Given the description of an element on the screen output the (x, y) to click on. 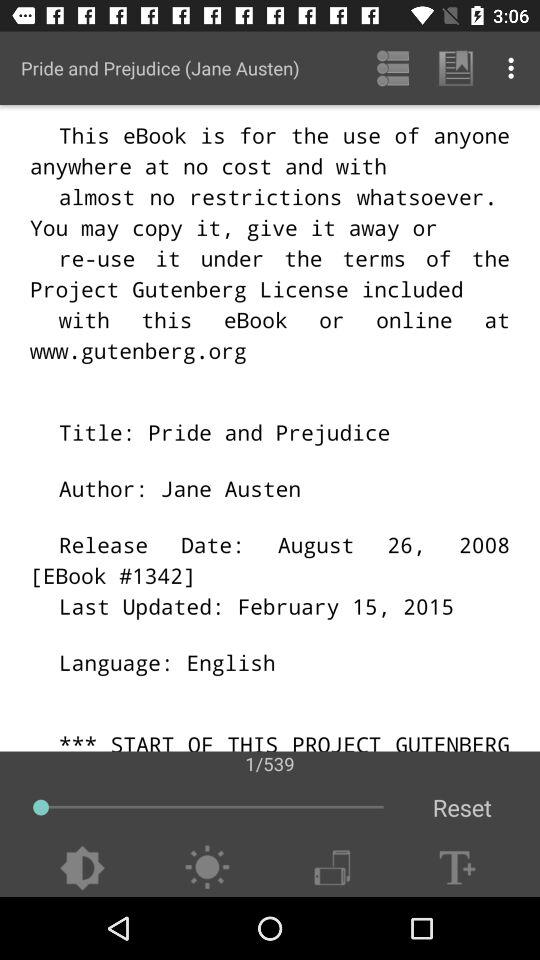
adjust brightness (206, 867)
